Given the description of an element on the screen output the (x, y) to click on. 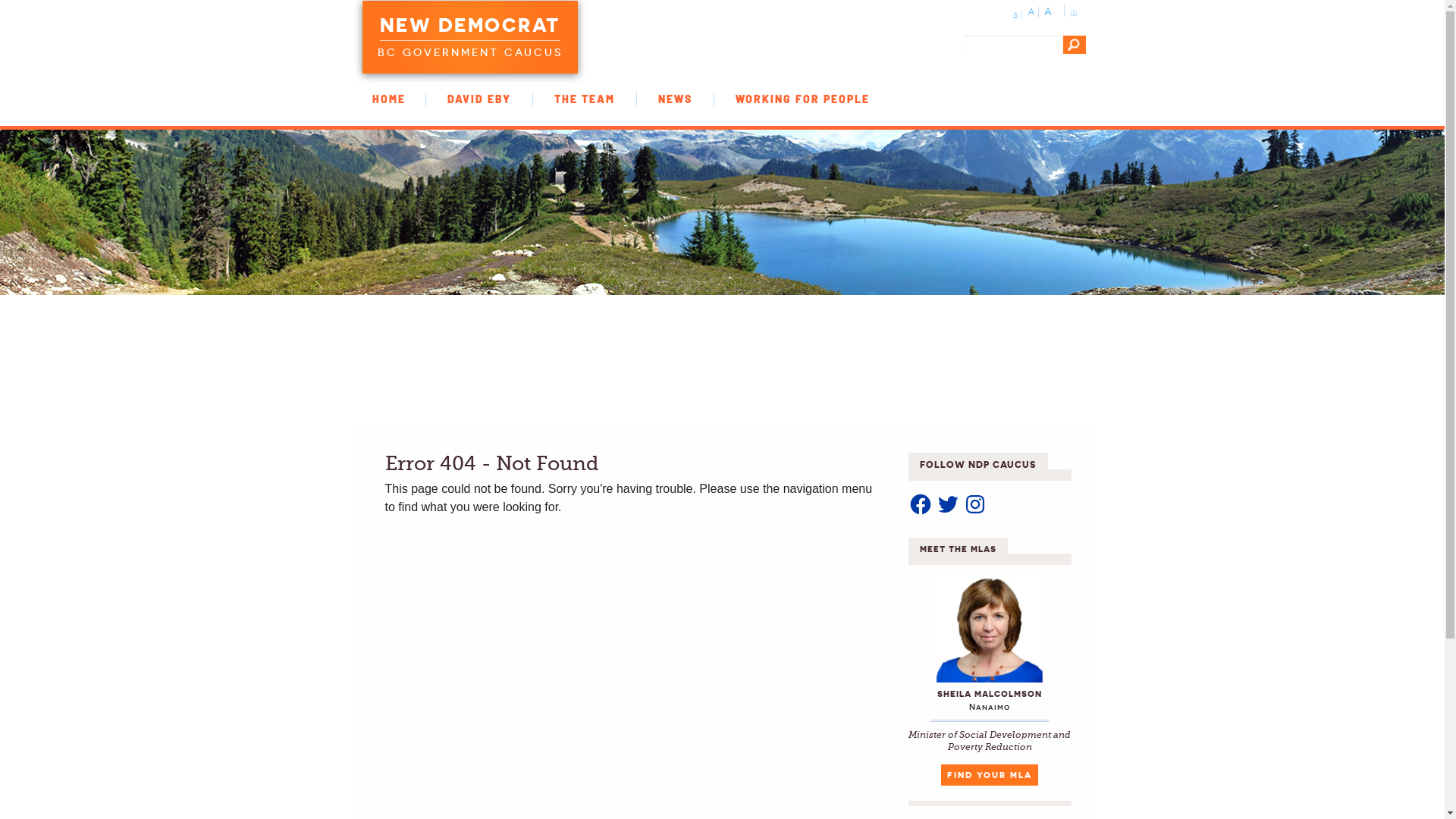
A Element type: text (1017, 14)
FIND YOUR MLA Element type: text (989, 774)
BC GOVERNMENT CAUCUS Element type: text (469, 49)
A Element type: text (1049, 11)
Go Element type: text (1074, 44)
WORKING FOR PEOPLE Element type: text (802, 98)
Facebook Element type: text (920, 504)
NEW DEMOCRAT Element type: text (469, 26)
DAVID EBY Element type: text (479, 98)
CAREER OPPORTUNITIES Element type: text (387, 114)
THE TEAM Element type: text (584, 98)
HOME Element type: text (387, 98)
Twitter Element type: text (947, 504)
NEWS Element type: text (675, 98)
A Element type: text (1033, 11)
Instagram Element type: text (975, 504)
